Given the description of an element on the screen output the (x, y) to click on. 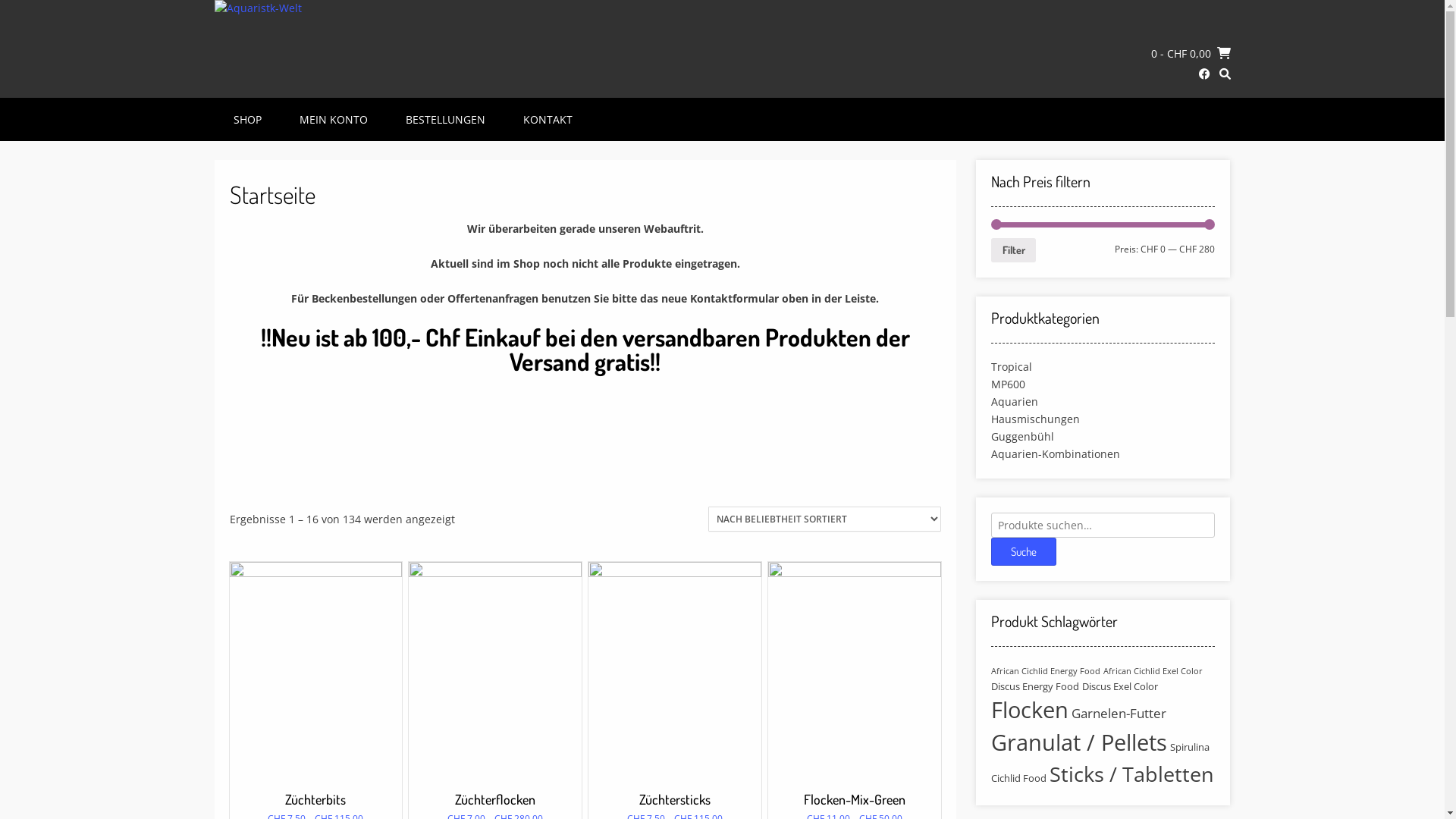
MEIN KONTO Element type: text (332, 119)
Find Us on Facebook Element type: hover (1203, 73)
MP600 Element type: text (1008, 383)
Hausmischungen Element type: text (1035, 418)
Discus Energy Food Element type: text (1035, 686)
Garnelen-Futter Element type: text (1118, 712)
Aquarien Element type: text (1014, 401)
Suche Element type: text (1023, 550)
BESTELLUNGEN Element type: text (444, 119)
0 - CHF 0,00 Element type: text (1190, 52)
Tropical Element type: text (1011, 366)
African Cichlid Energy Food Element type: text (1045, 670)
Flocken Element type: text (1029, 709)
SHOP Element type: text (247, 119)
Aquarien-Kombinationen Element type: text (1055, 452)
African Cichlid Exel Color Element type: text (1152, 670)
Skip to content Element type: text (0, 0)
Filter Element type: text (1013, 250)
Spirulina Cichlid Food Element type: text (1100, 762)
KONTAKT Element type: text (547, 119)
Sticks / Tabletten Element type: text (1131, 773)
Granulat / Pellets Element type: text (1079, 742)
Discus Exel Color Element type: text (1119, 686)
